Given the description of an element on the screen output the (x, y) to click on. 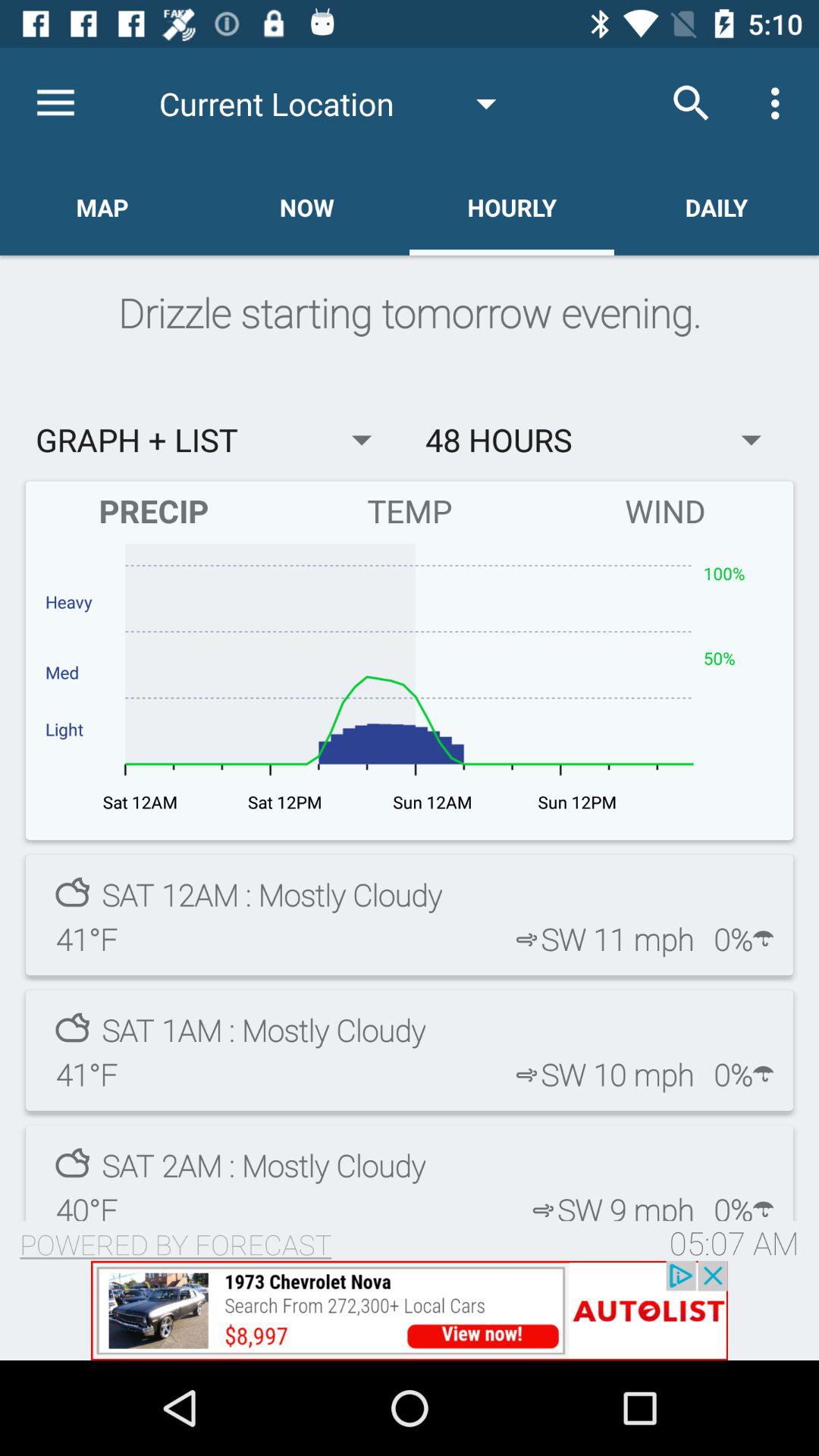
toggle advertisement (409, 1310)
